Given the description of an element on the screen output the (x, y) to click on. 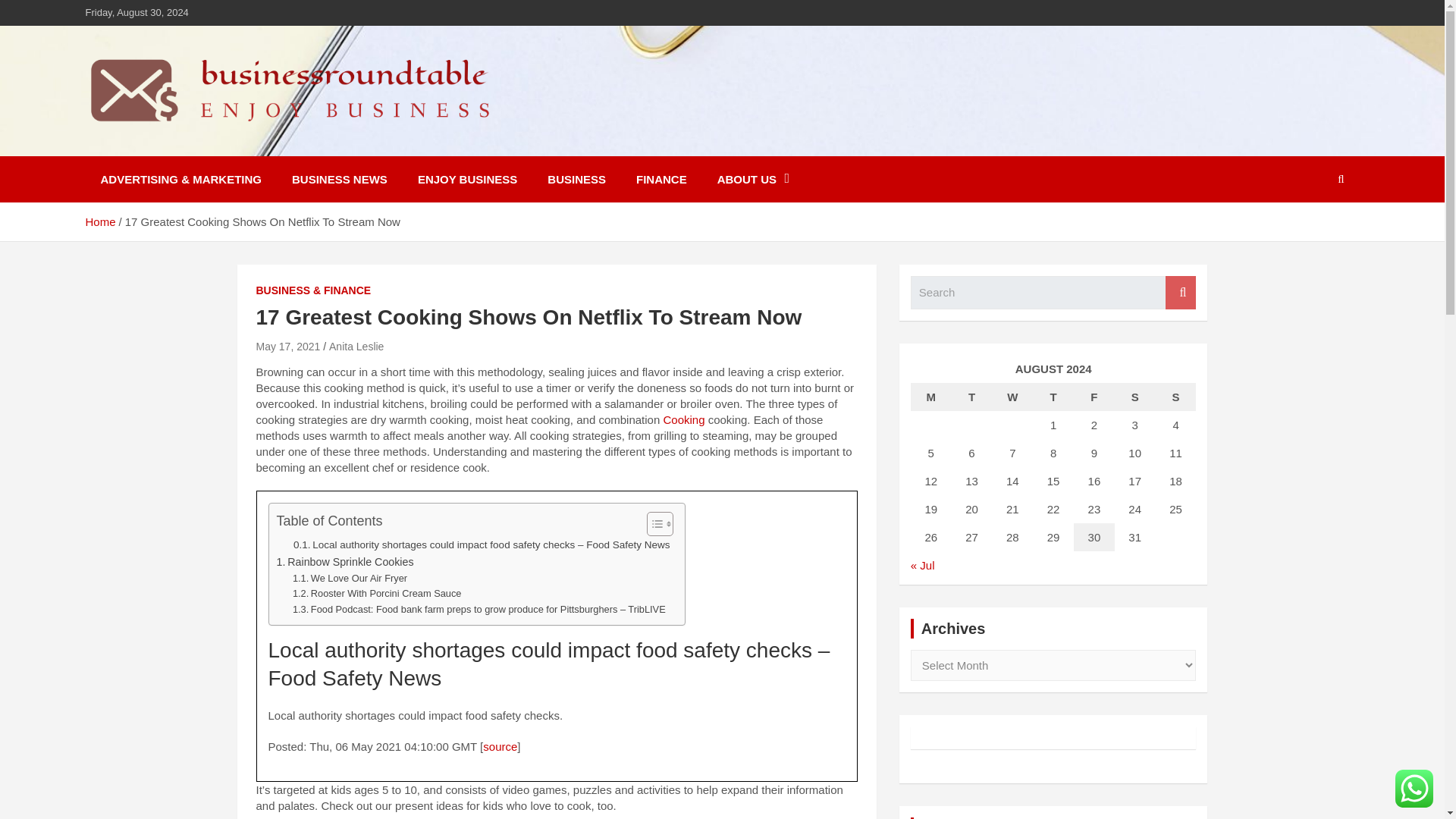
ABOUT US (753, 179)
Monday (931, 397)
Search (1180, 293)
source (499, 746)
Cooking (683, 419)
Rainbow Sprinkle Cookies (344, 561)
Sunday (1176, 397)
Rooster With Porcini Cream Sauce (376, 593)
BUSINESS NEWS (339, 179)
17 Greatest Cooking Shows On Netflix To Stream Now (288, 346)
